Given the description of an element on the screen output the (x, y) to click on. 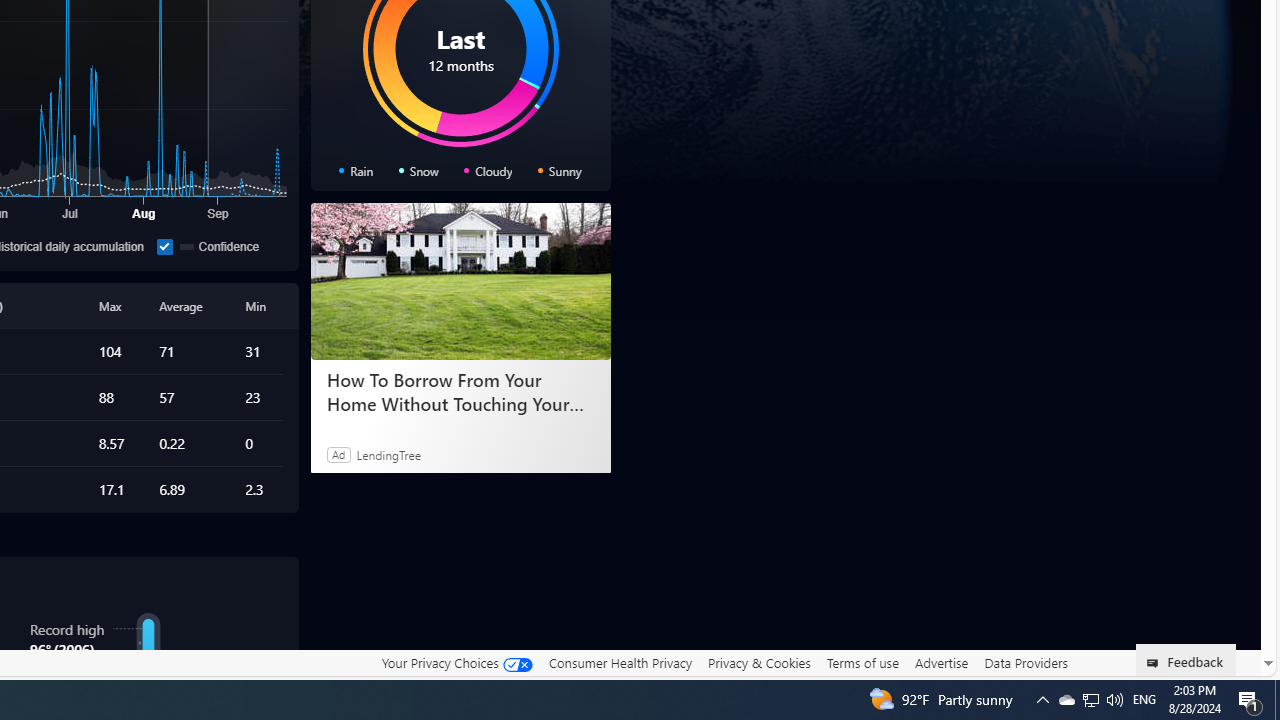
Terms of use (861, 662)
Confidence (217, 246)
Privacy & Cookies (759, 662)
Your Privacy Choices (456, 663)
